Given the description of an element on the screen output the (x, y) to click on. 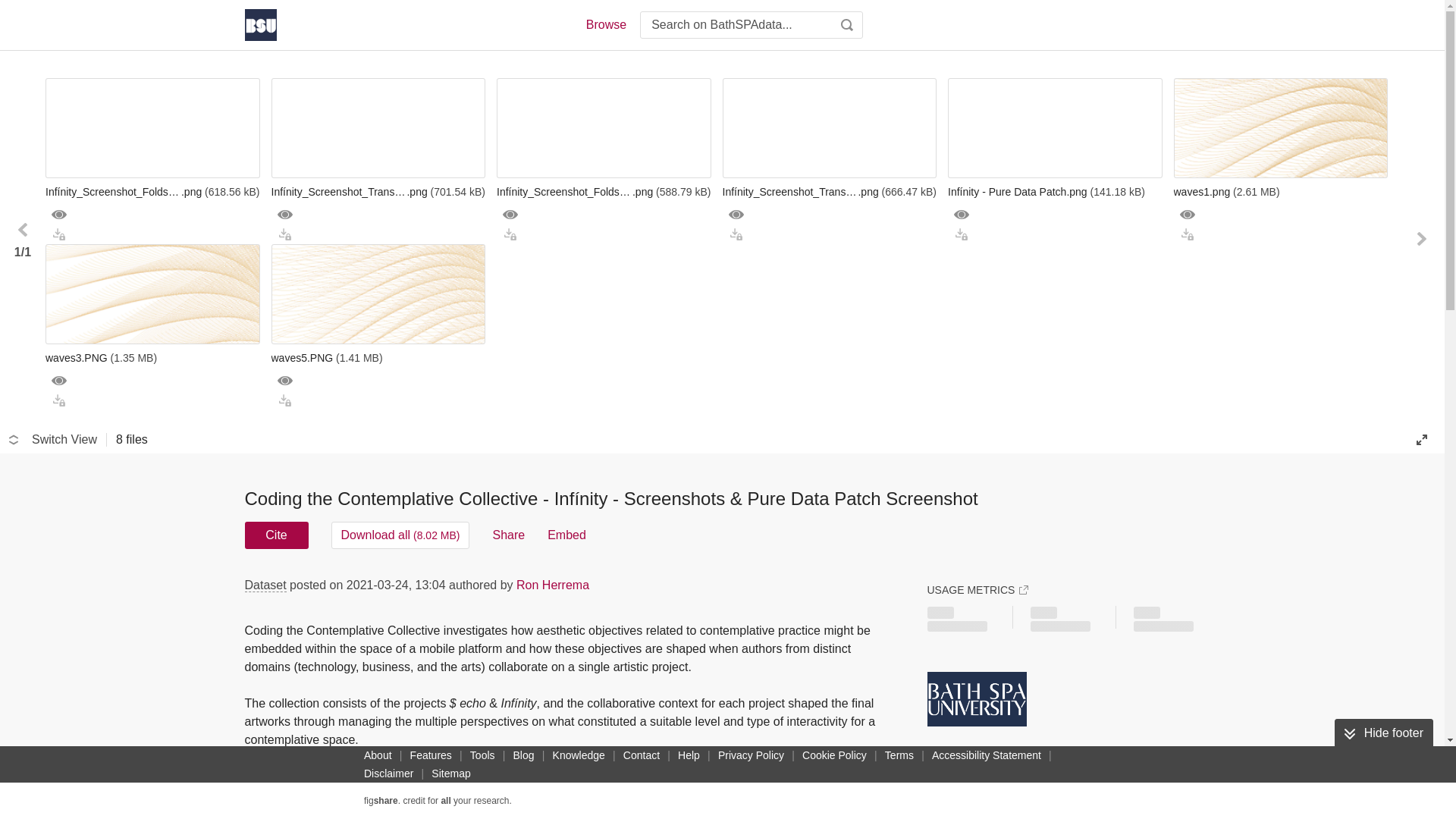
waves5.PNG (378, 357)
USAGE METRICS (976, 589)
Switch View (52, 439)
Share (508, 534)
Cite (275, 534)
Ron Herrema (552, 584)
waves3.PNG (152, 357)
waves1.png (1281, 191)
Embed (566, 534)
Browse (605, 24)
